Given the description of an element on the screen output the (x, y) to click on. 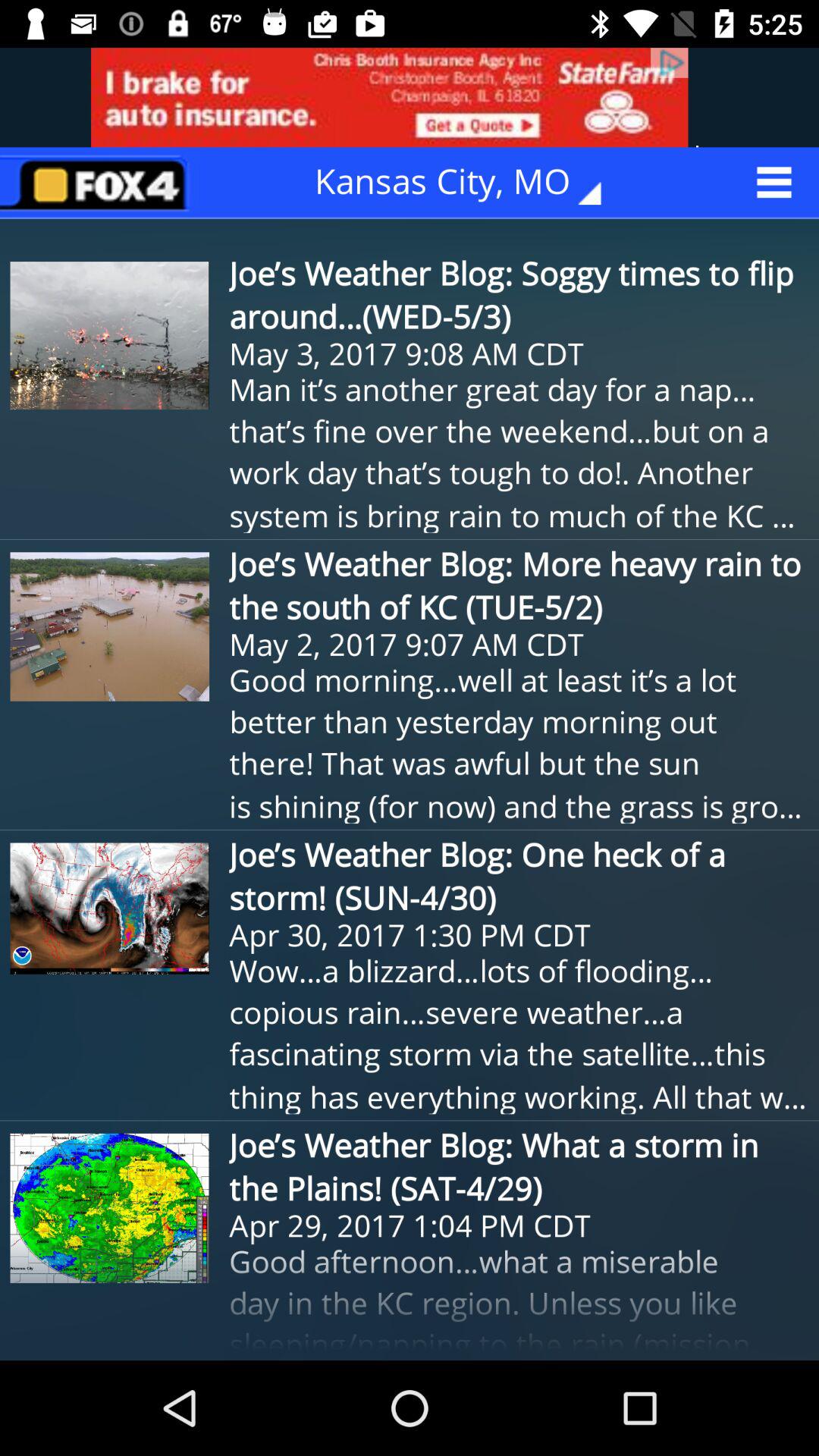
redirects user to the website of the relevant advertisement (409, 97)
